Given the description of an element on the screen output the (x, y) to click on. 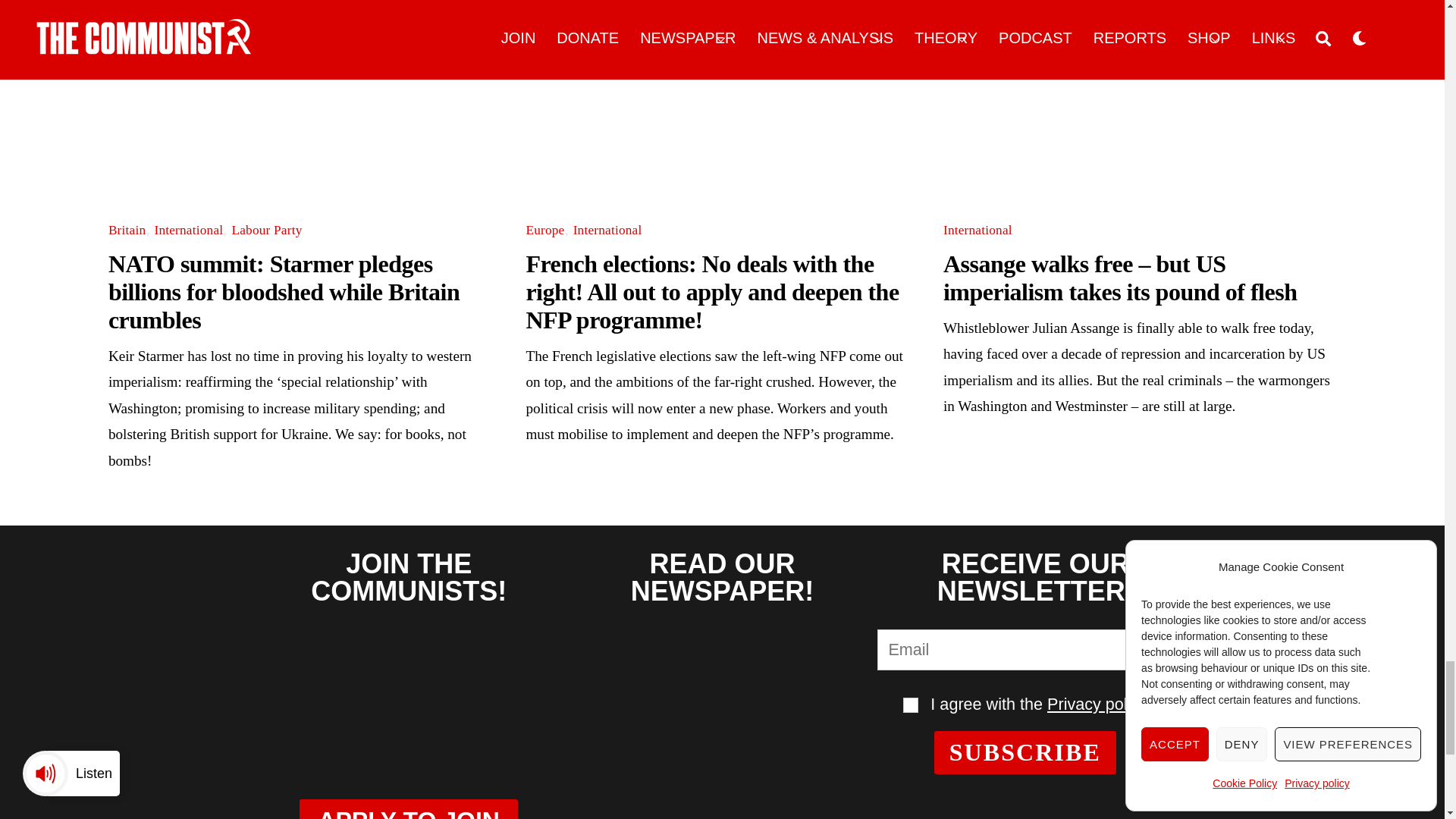
on (910, 704)
Terms and conditions (910, 704)
Privacy policy (1096, 703)
